Given the description of an element on the screen output the (x, y) to click on. 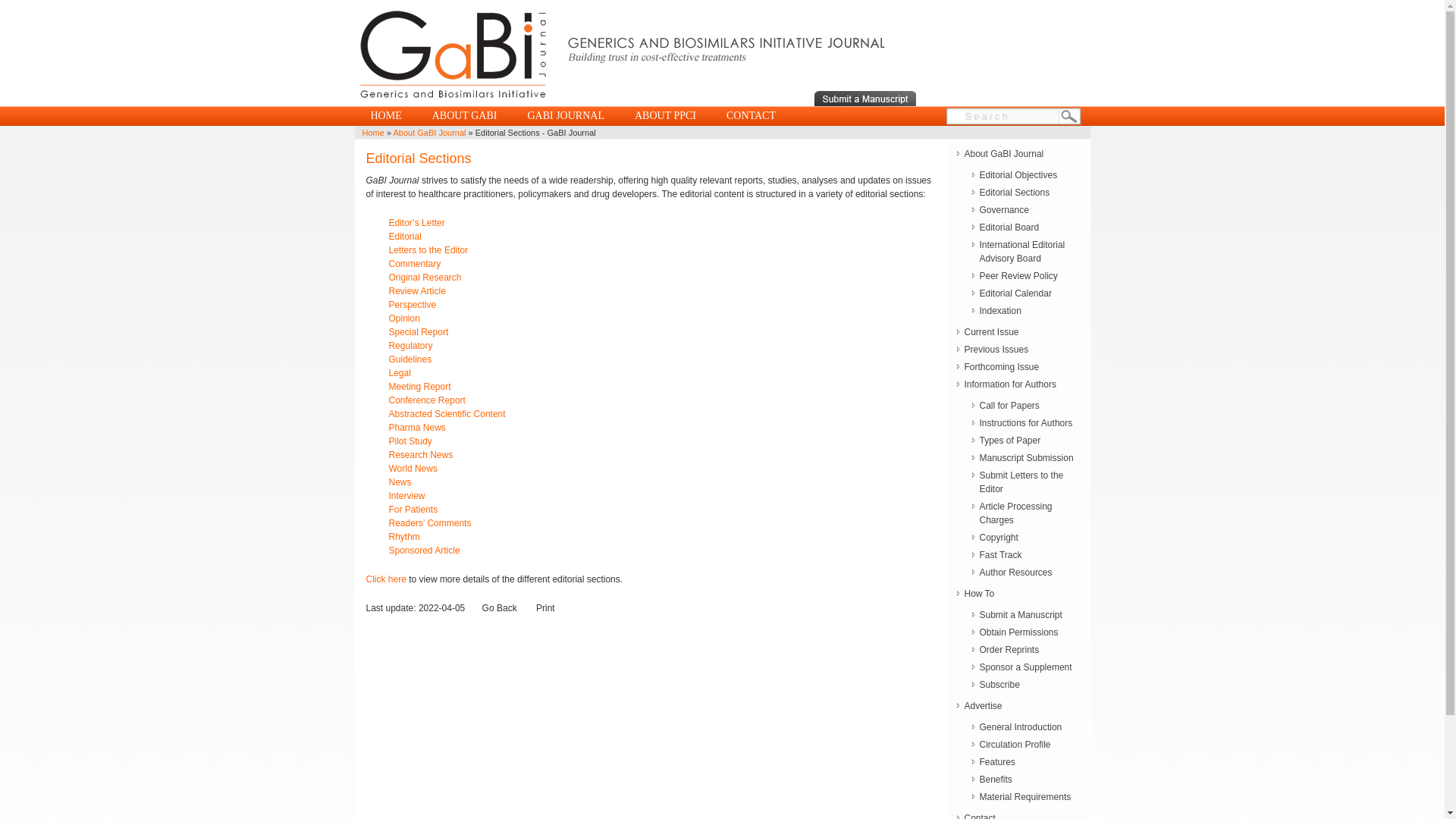
Regulatory (410, 345)
GABI JOURNAL (566, 116)
Editorial (416, 242)
News (399, 481)
Perspective (411, 304)
Special Report (418, 331)
Review Article (416, 290)
Opinion (403, 317)
ABOUT PPCI (665, 116)
HOME (385, 116)
Commentary (414, 263)
GaBI Journal (622, 102)
Conference Report (426, 399)
Perspective (411, 304)
ABOUT GABI (464, 116)
